Given the description of an element on the screen output the (x, y) to click on. 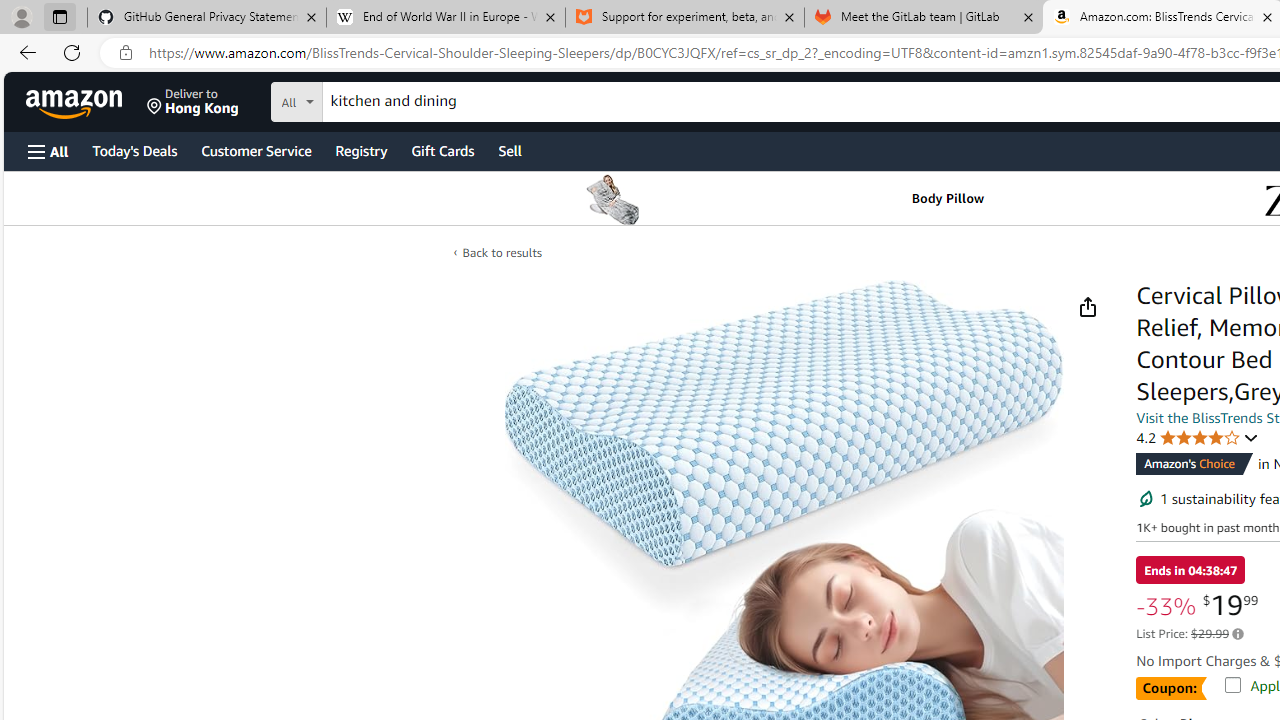
Back to results (501, 252)
Share (1087, 307)
Skip to main content (86, 100)
Amazon (76, 101)
Registry (360, 150)
End of World War II in Europe - Wikipedia (445, 17)
GitHub General Privacy Statement - GitHub Docs (207, 17)
Deliver to Hong Kong (193, 101)
4.2 4.2 out of 5 stars (1197, 437)
Sustainability features (1146, 498)
Apply 20% coupon Shop items | Terms (1225, 681)
